Given the description of an element on the screen output the (x, y) to click on. 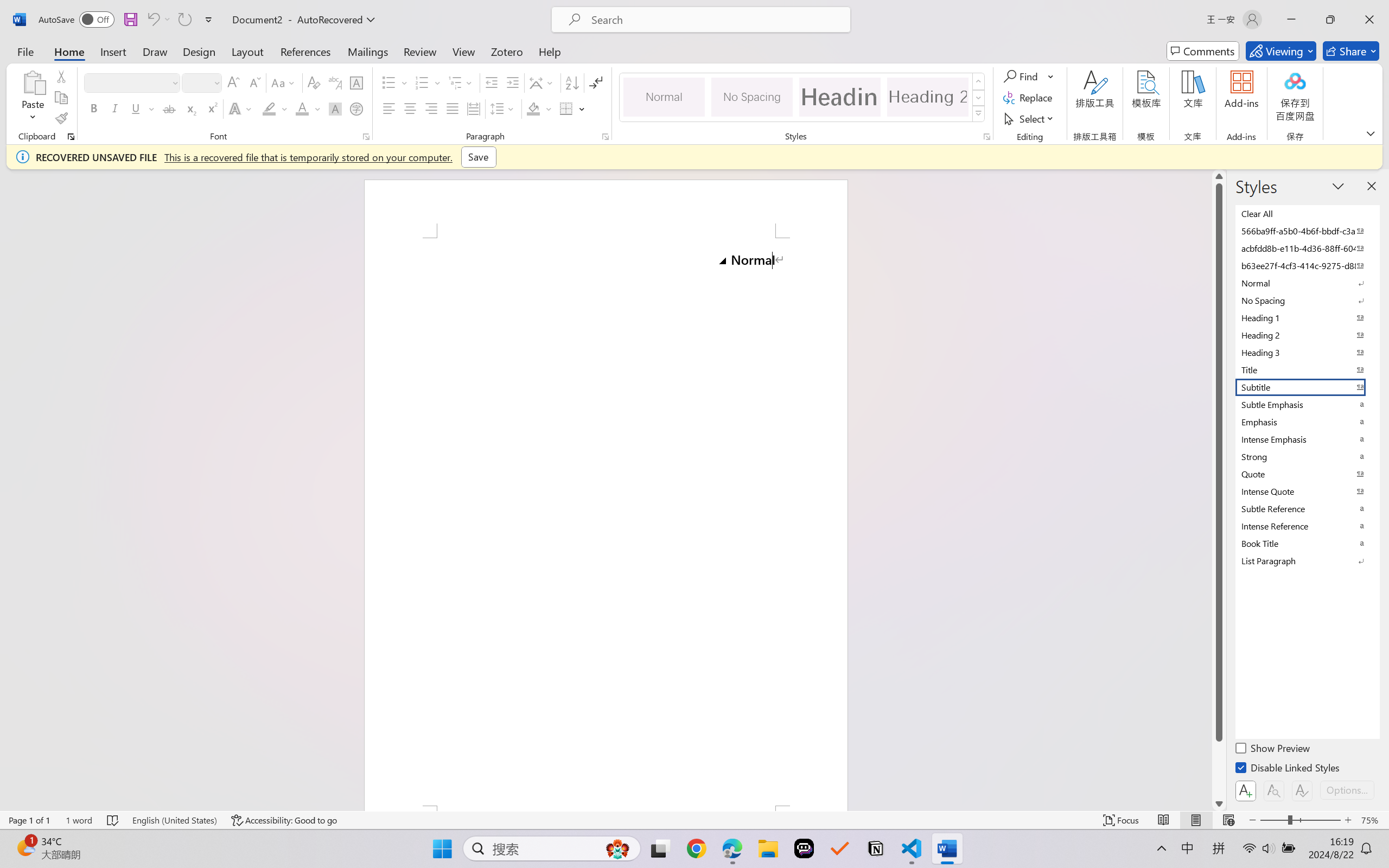
Row Down (978, 97)
Replace... (1029, 97)
Sort... (571, 82)
Book Title (1306, 543)
Mode (1280, 50)
Cut (60, 75)
566ba9ff-a5b0-4b6f-bbdf-c3ab41993fc2 (1306, 230)
